Given the description of an element on the screen output the (x, y) to click on. 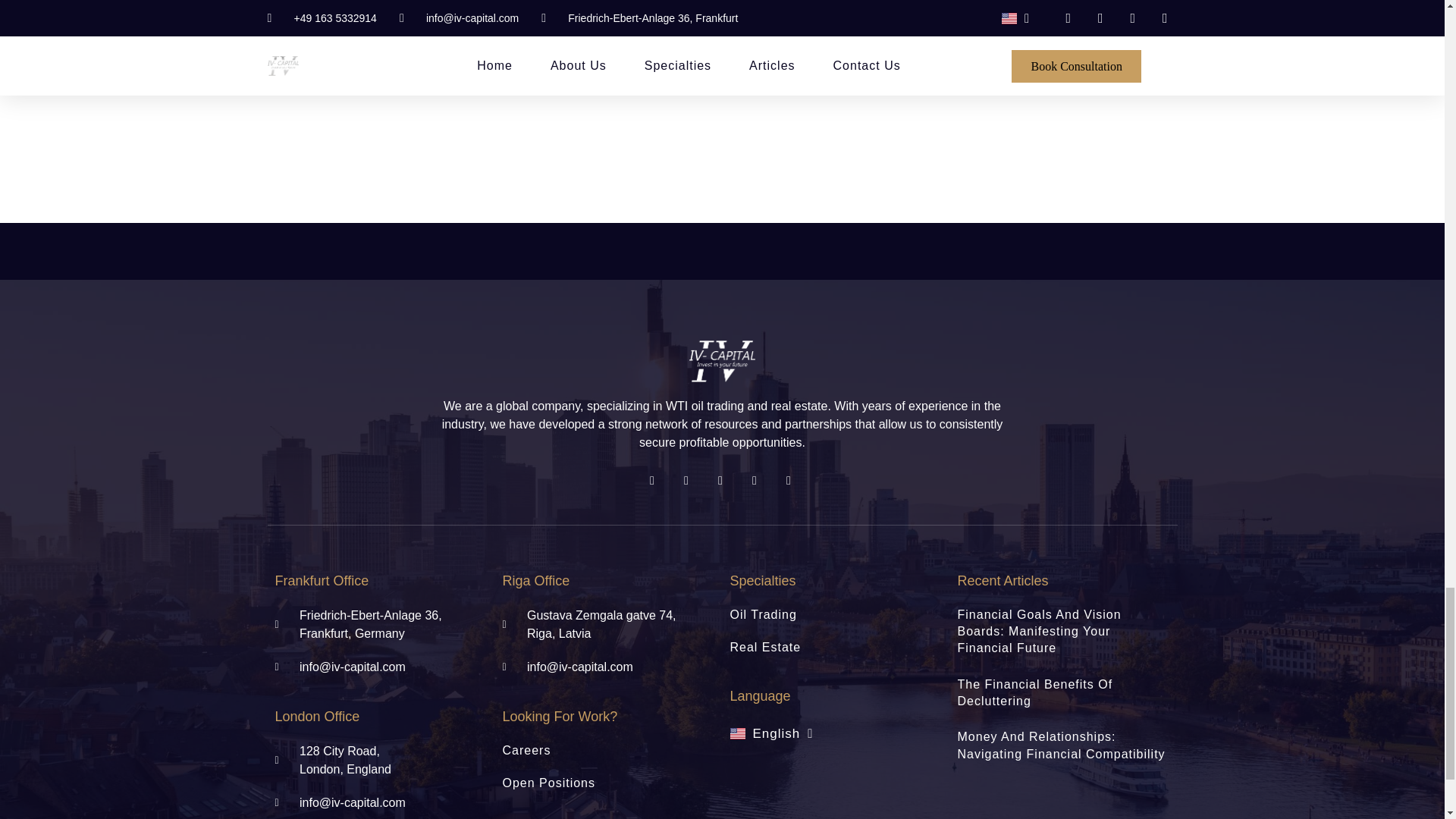
iv-capital-logo-white-1 (721, 360)
